Given the description of an element on the screen output the (x, y) to click on. 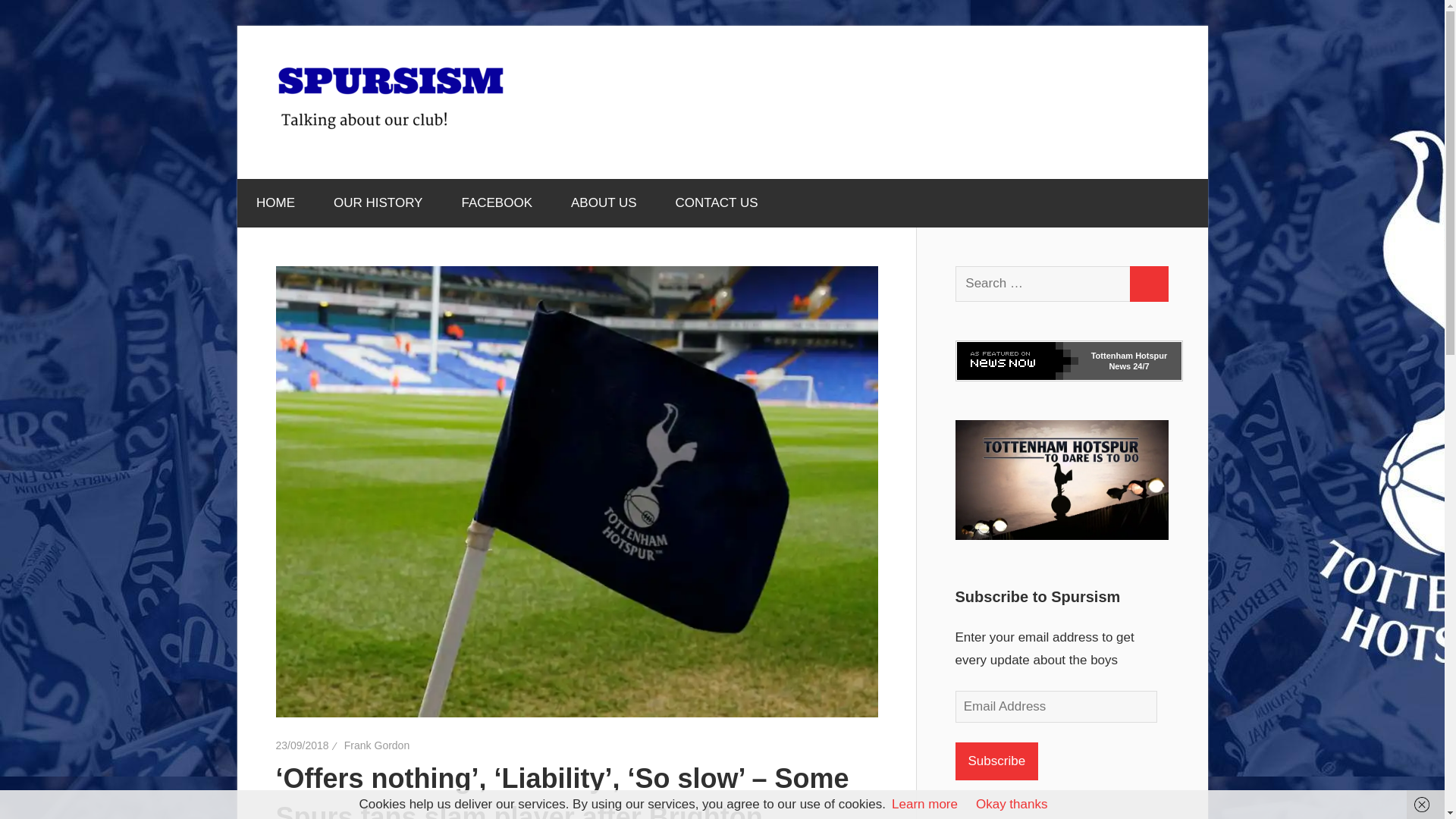
Search (1148, 283)
Click here for more Tottenham Hotspur news from NewsNow (1128, 361)
ABOUT US (603, 203)
Tottenham Hotspur News (1128, 361)
Click here for more Tottenham Hotspur news from NewsNow (1139, 366)
12:29 pm (302, 745)
View all posts by Frank Gordon (376, 745)
Advertisement (893, 101)
Learn more (924, 803)
